Given the description of an element on the screen output the (x, y) to click on. 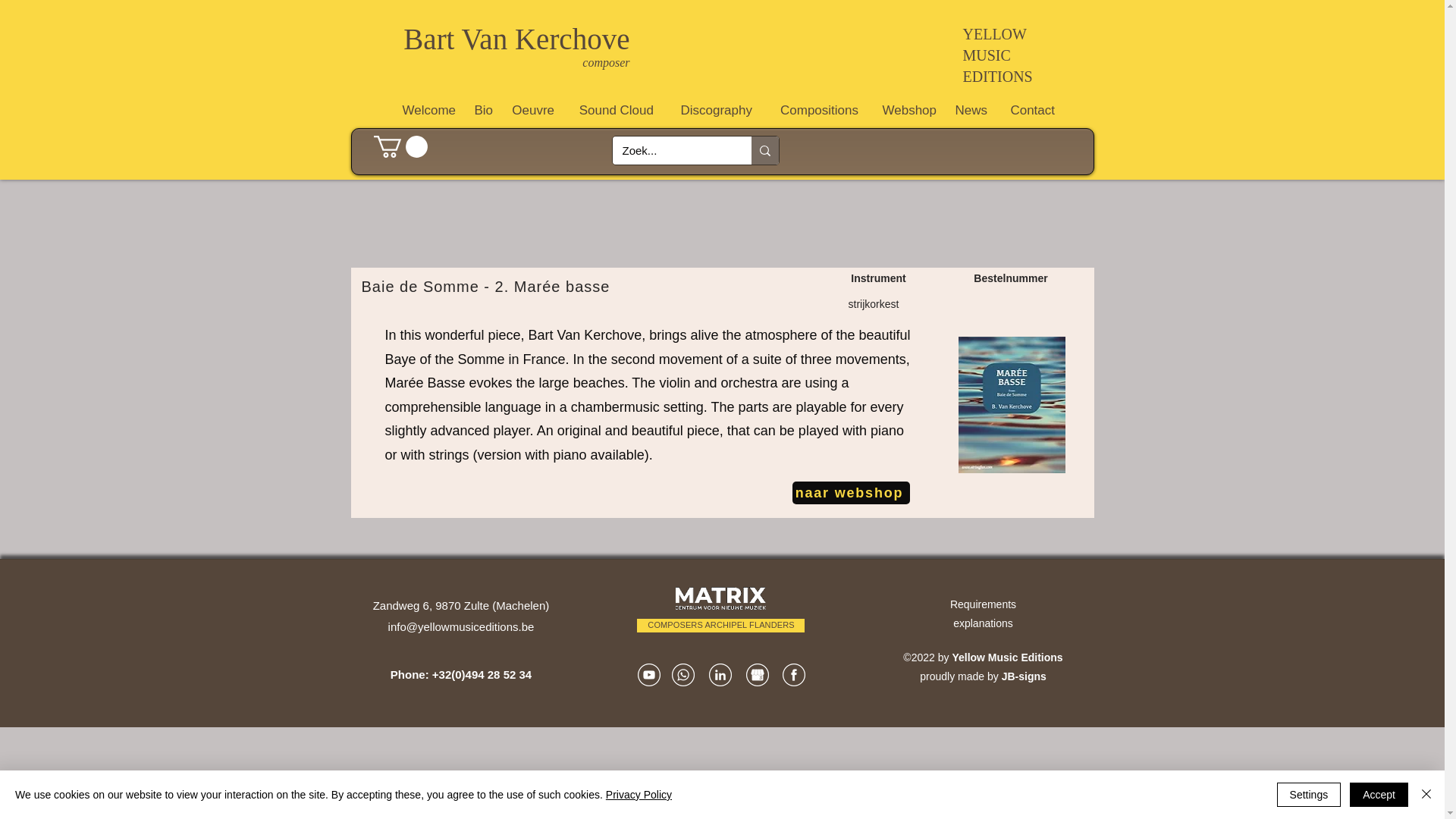
Contact (1028, 110)
EDITIONS (997, 76)
Requirements (983, 604)
News (968, 110)
COMPOSERS ARCHIPEL FLANDERS (720, 624)
Bart Van Kerchove (515, 38)
JB-signs (1023, 676)
MUSIC (986, 54)
Compositions (813, 110)
Welcome (424, 110)
